Given the description of an element on the screen output the (x, y) to click on. 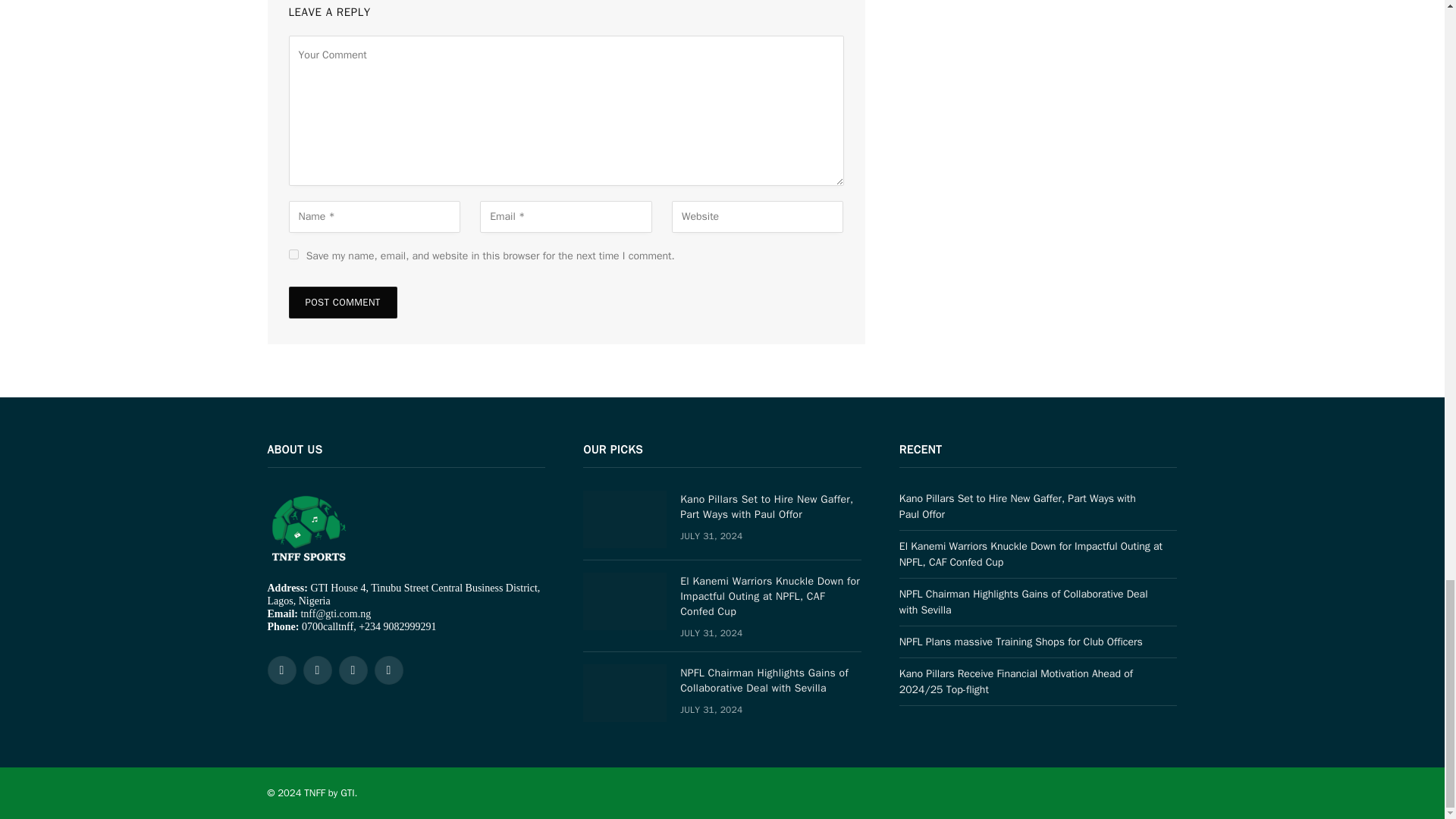
yes (293, 254)
Post Comment (342, 302)
